Given the description of an element on the screen output the (x, y) to click on. 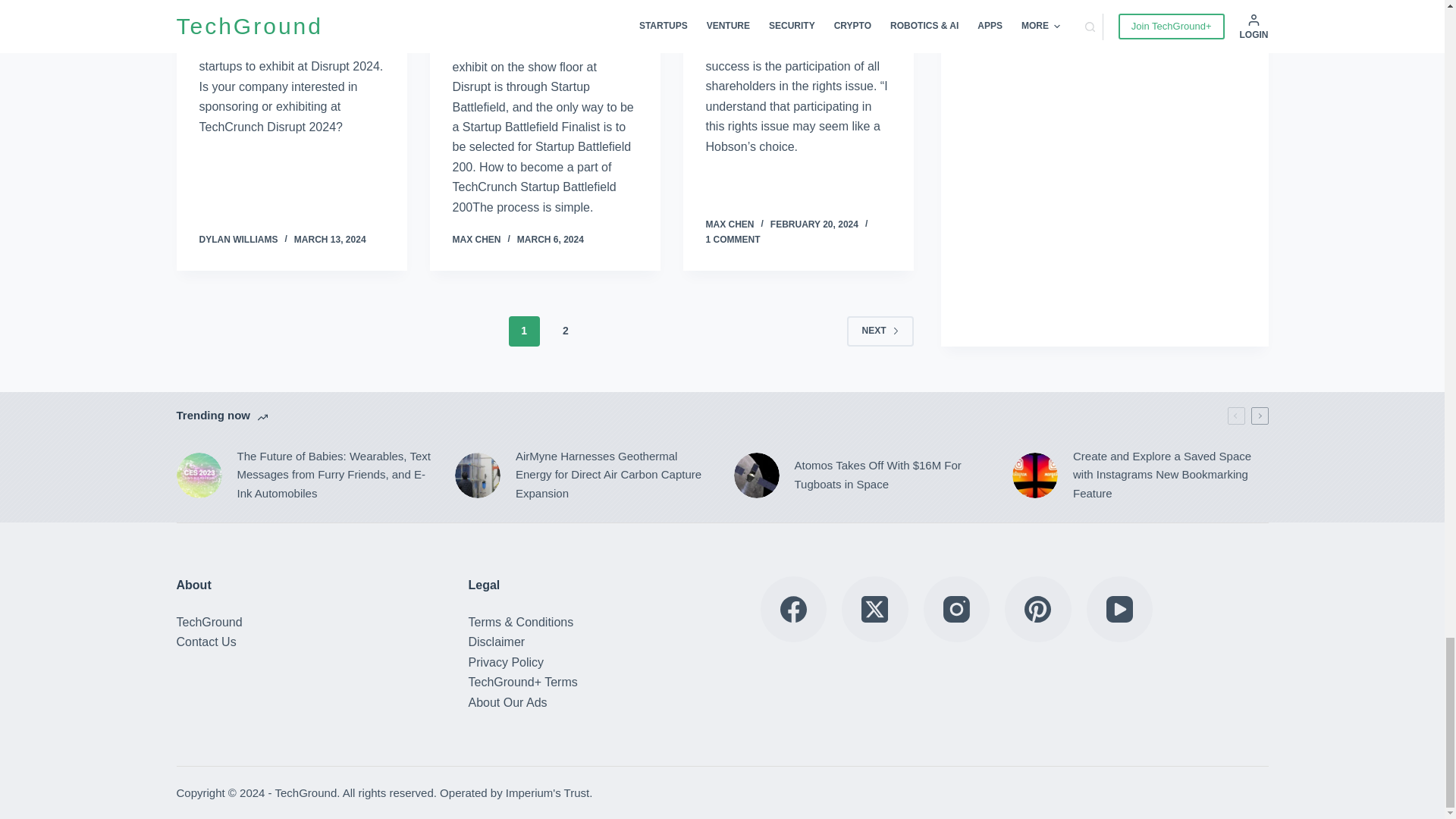
Posts by Max Chen (729, 224)
Posts by Max Chen (475, 239)
Posts by Dylan Williams (238, 239)
